Given the description of an element on the screen output the (x, y) to click on. 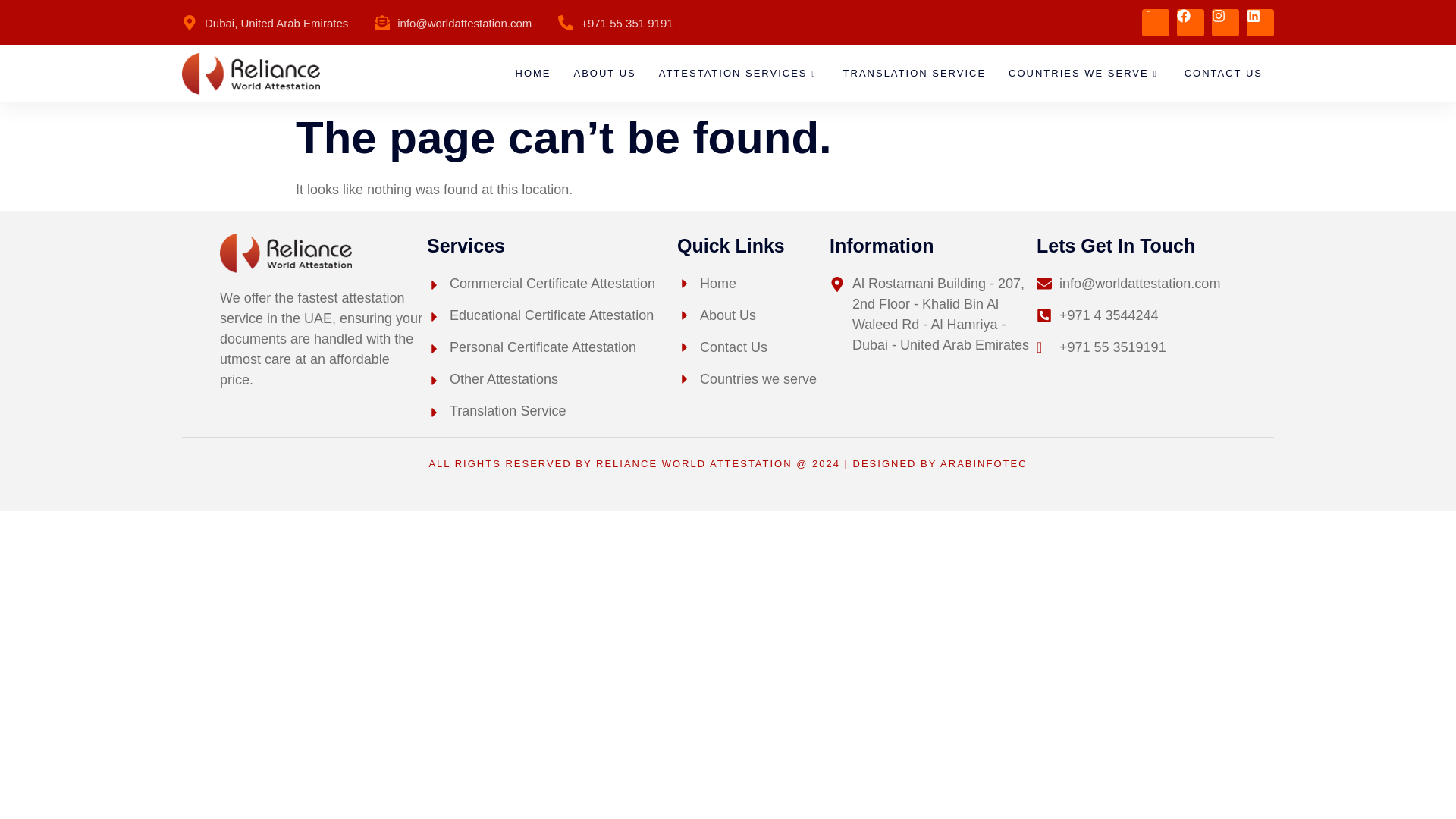
Educational Certificate Attestation (551, 315)
CONTACT US (1223, 73)
TRANSLATION SERVICE (914, 73)
HOME (532, 73)
Other Attestations (551, 379)
ATTESTATION SERVICES (739, 73)
Commercial Certificate Attestation (551, 283)
COUNTRIES WE SERVE (1085, 73)
Personal Certificate Attestation (551, 347)
ABOUT US (604, 73)
